Given the description of an element on the screen output the (x, y) to click on. 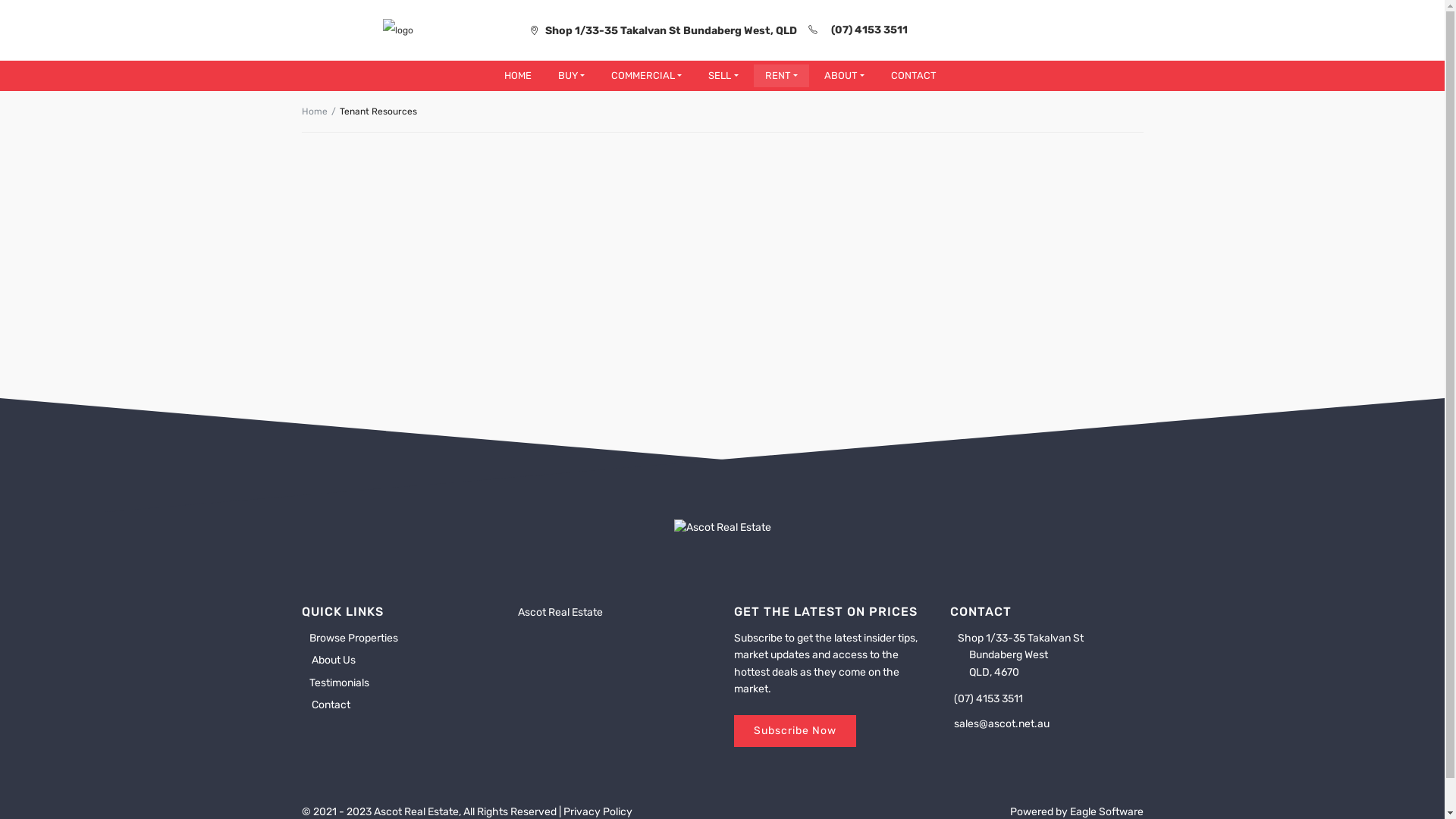
Eagle Software Element type: text (1105, 811)
ABOUT Element type: text (843, 75)
Ascot Real Estate Element type: text (559, 611)
SELL Element type: text (722, 75)
BUY Element type: text (571, 75)
RENT Element type: text (781, 75)
Contact Element type: text (325, 704)
Privacy Policy Element type: text (596, 811)
Subscribe Now Element type: text (795, 730)
About Us Element type: text (328, 659)
sales@ascot.net.au Element type: text (998, 723)
(07) 4153 3511 Element type: text (869, 29)
(07) 4153 3511 Element type: text (985, 698)
Browse Properties Element type: text (349, 637)
HOME Element type: text (517, 75)
Testimonials Element type: text (335, 682)
Home Element type: text (314, 111)
CONTACT Element type: text (913, 75)
COMMERCIAL Element type: text (646, 75)
Butterfly Element type: hover (721, 526)
